Given the description of an element on the screen output the (x, y) to click on. 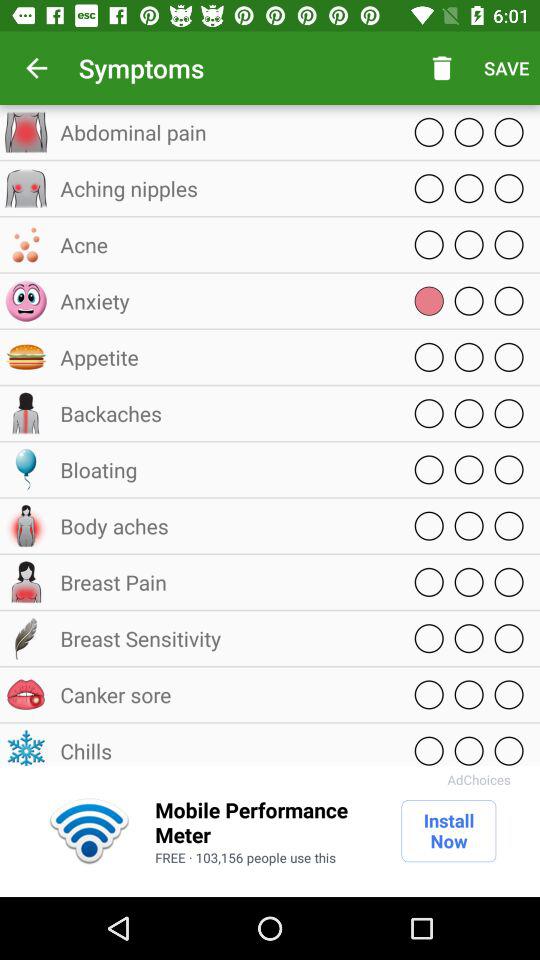
press the item above the chills item (225, 694)
